Given the description of an element on the screen output the (x, y) to click on. 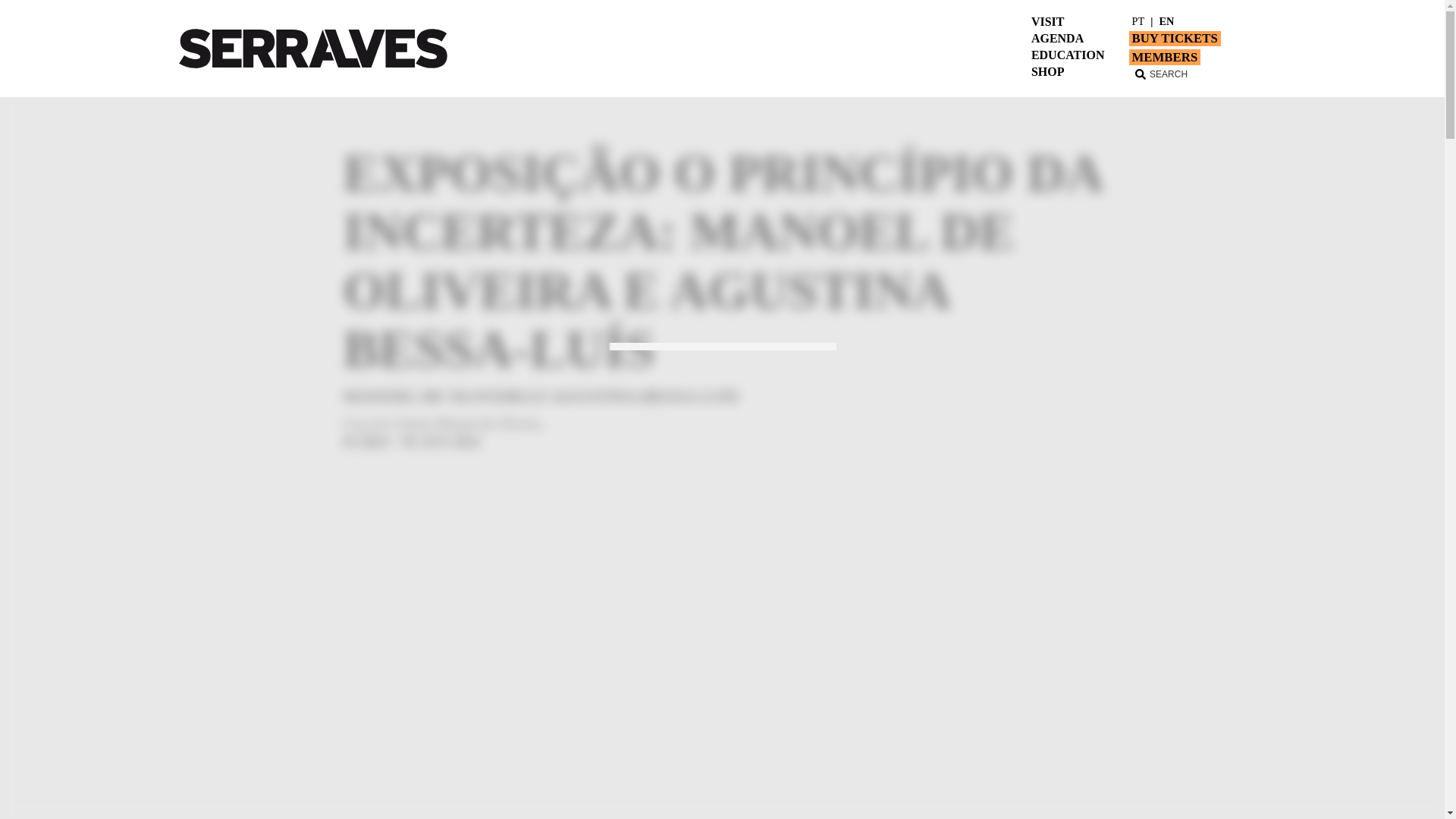
MEMBERS (1163, 57)
PT (1137, 21)
SHOP (1047, 71)
EDUCATION (1067, 55)
BUY TICKETS (1174, 38)
Submit (409, 28)
AGENDA (1056, 38)
EN (1166, 21)
VISIT (1047, 21)
